Given the description of an element on the screen output the (x, y) to click on. 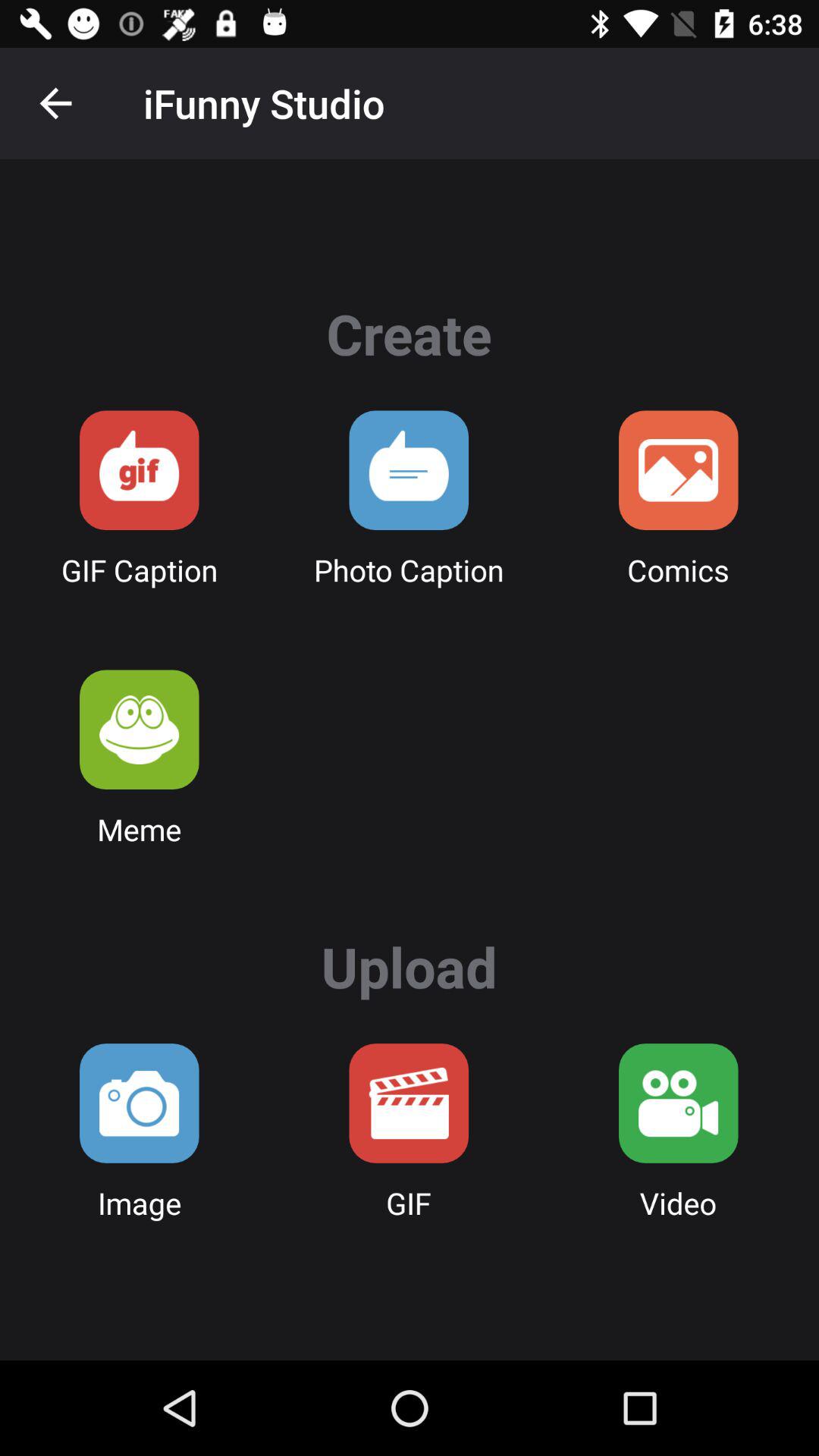
add gif (408, 1103)
